Given the description of an element on the screen output the (x, y) to click on. 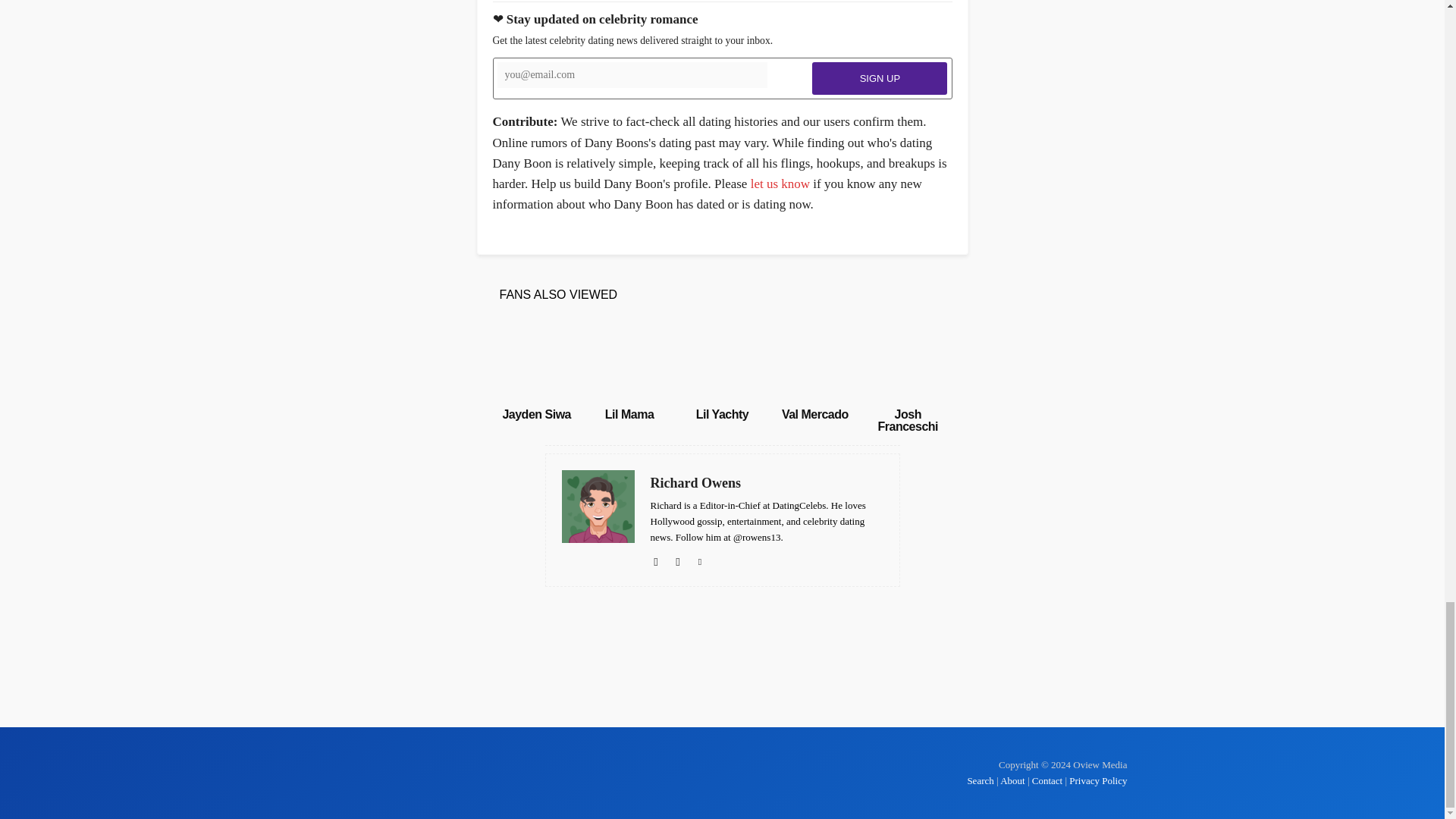
Privacy Policy (1097, 780)
let us know (780, 183)
Jayden Siwa (536, 413)
Richard Owens (766, 483)
About (1012, 780)
Lil Yachty (721, 413)
Josh Franceschi (907, 420)
Val Mercado (814, 413)
SIGN UP (879, 78)
Contact (1047, 780)
Lil Mama (629, 360)
Lil Mama (629, 413)
Lil Mama (629, 413)
SIGN UP (879, 78)
Search (980, 780)
